Given the description of an element on the screen output the (x, y) to click on. 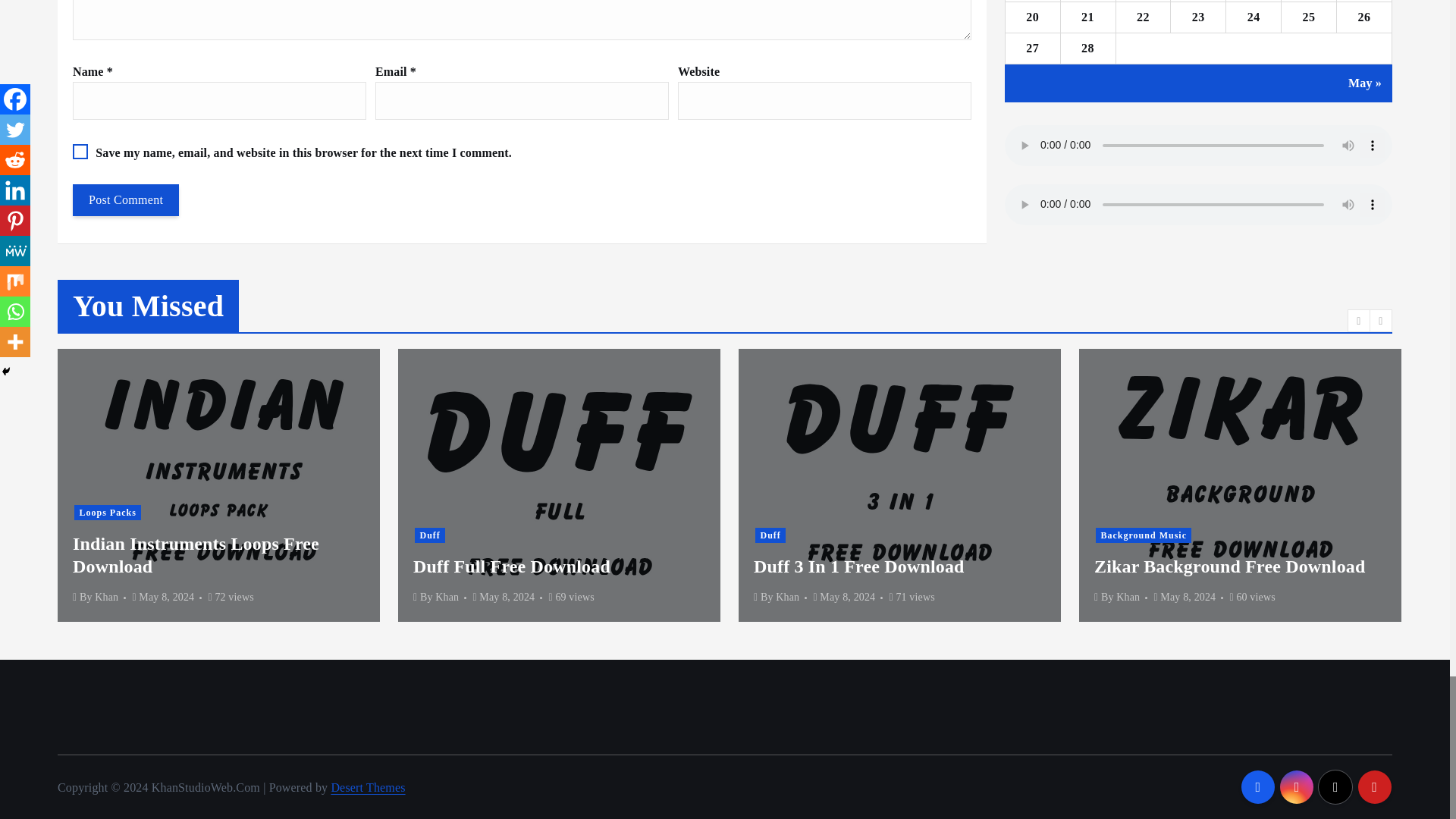
Post Comment (125, 200)
yes (79, 151)
